Given the description of an element on the screen output the (x, y) to click on. 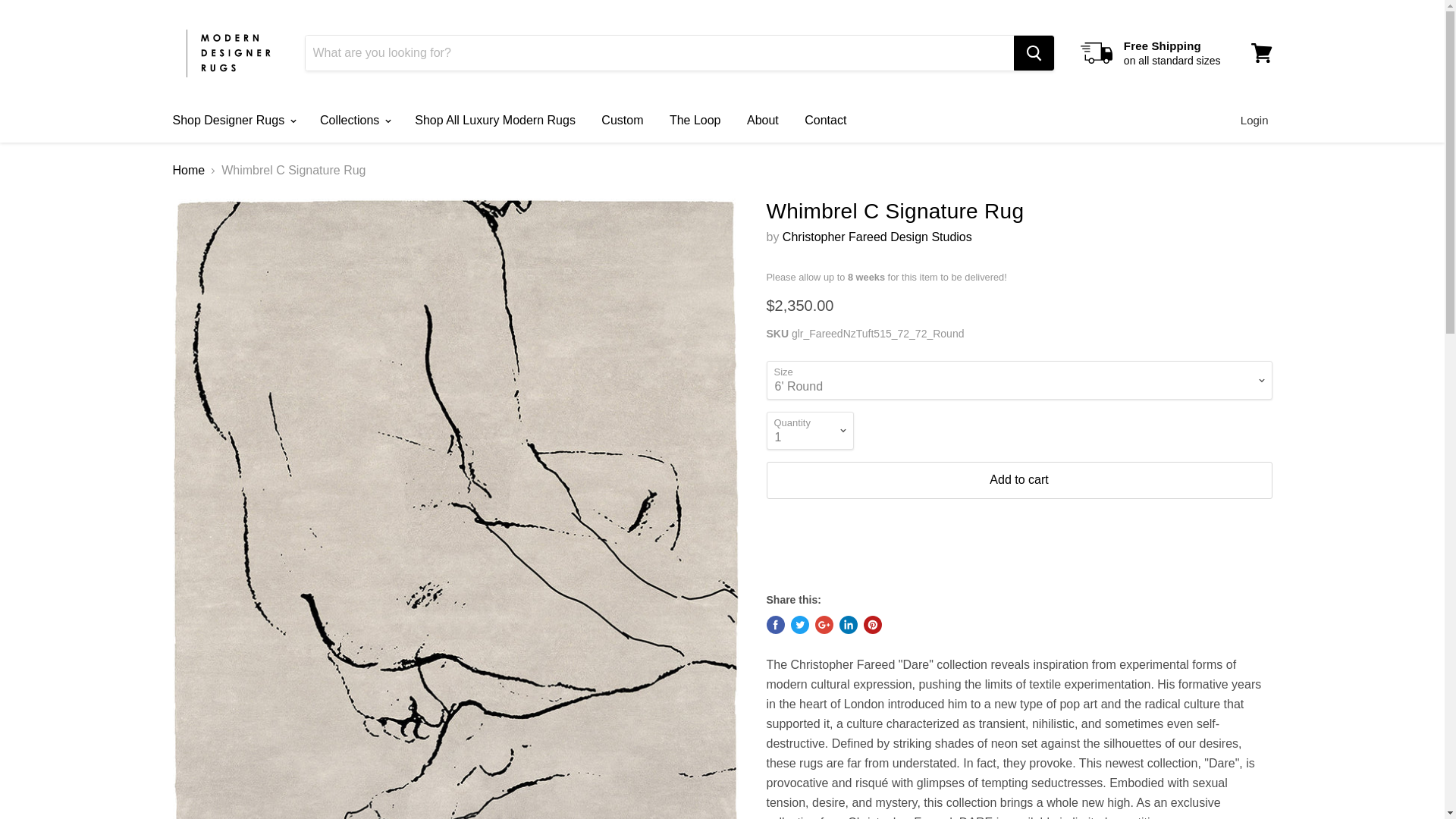
View cart (1261, 53)
Shop Designer Rugs (232, 120)
Christopher Fareed Design Studios (877, 236)
